Given the description of an element on the screen output the (x, y) to click on. 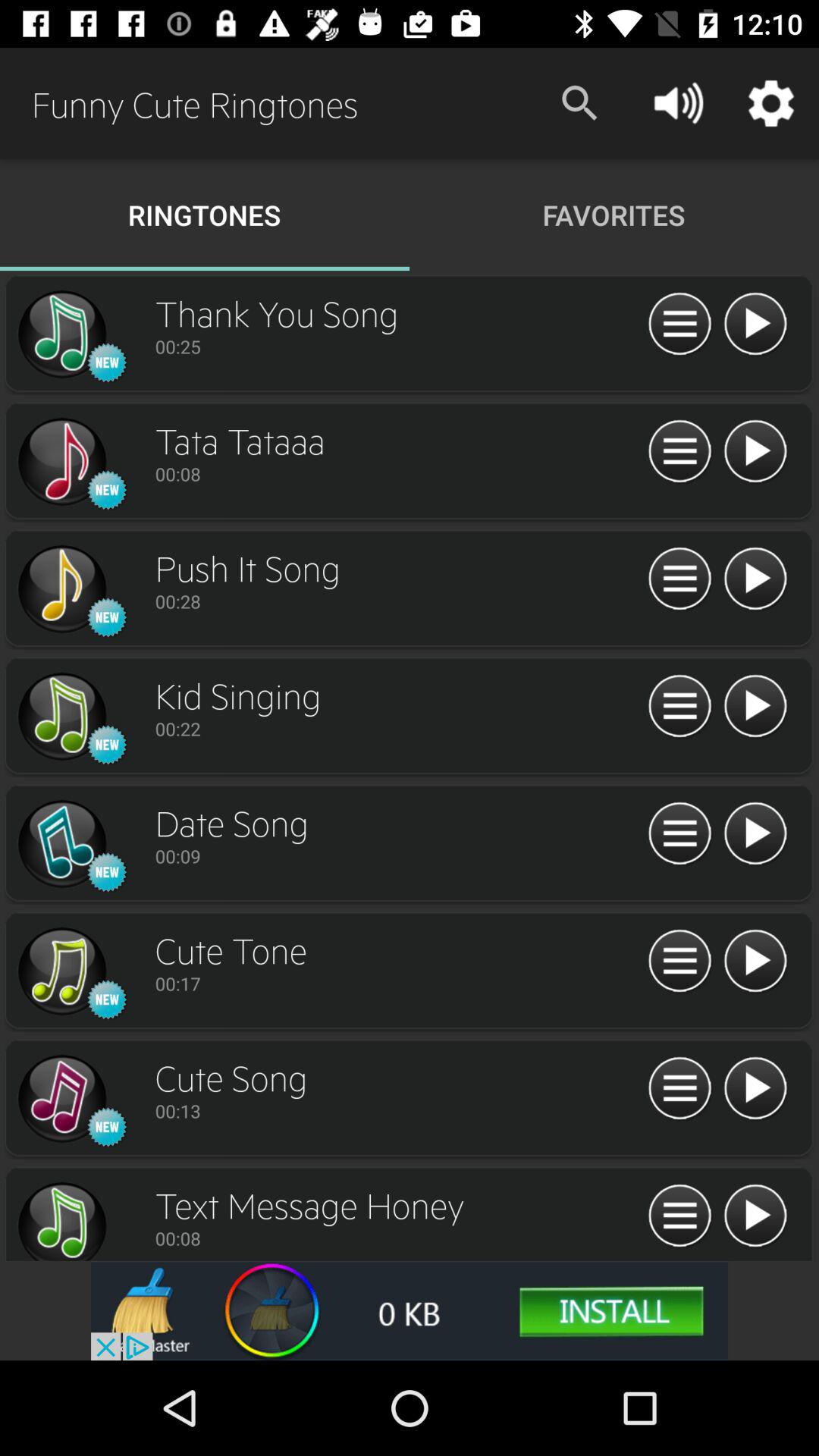
toggle song options dropdown list (679, 1088)
